Given the description of an element on the screen output the (x, y) to click on. 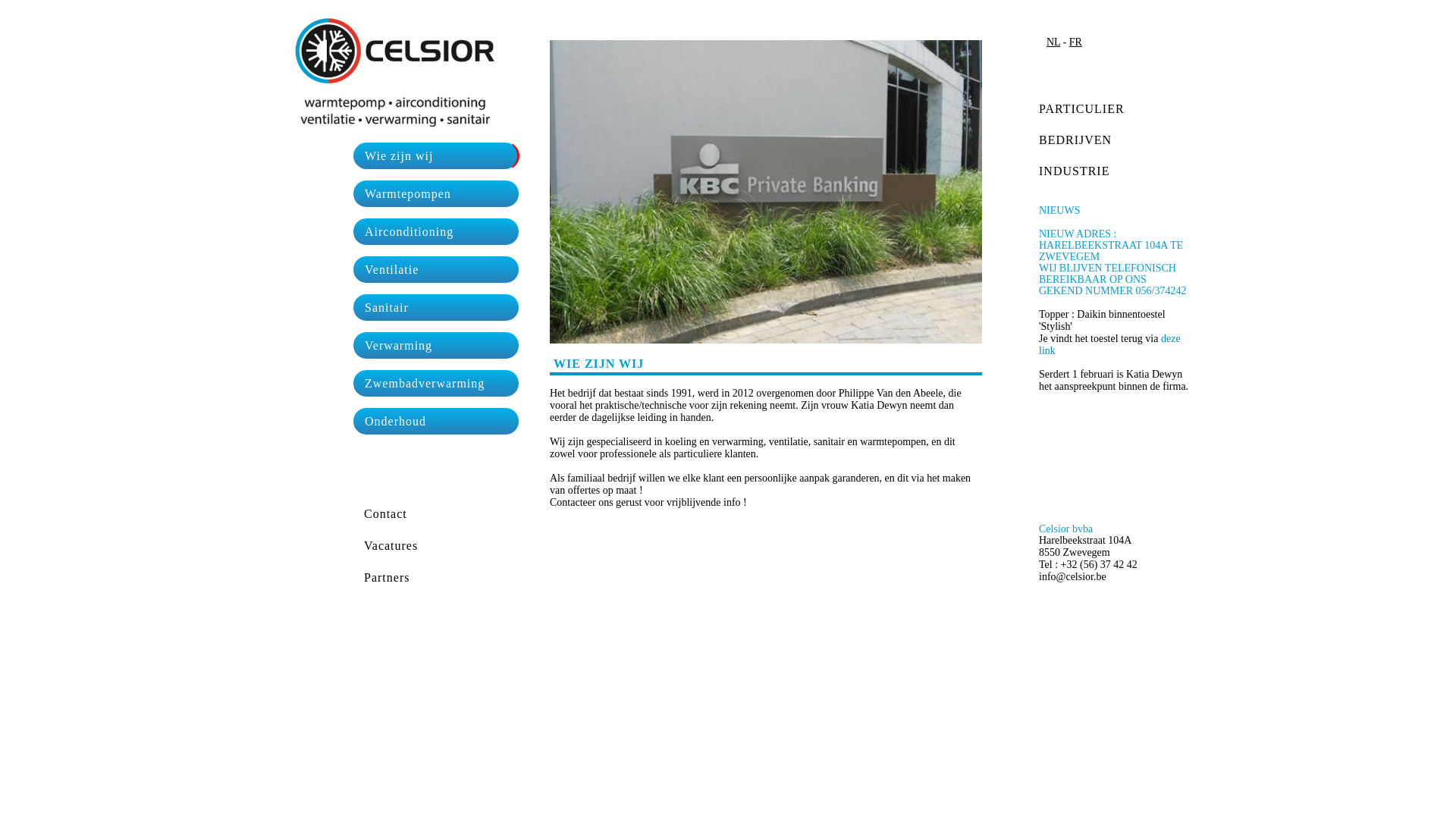
Onderhoud Element type: text (435, 421)
Verwarming Element type: text (435, 345)
Vacatures Element type: text (391, 545)
FR Element type: text (1075, 41)
Ventilatie Element type: text (435, 269)
Contact Element type: text (386, 513)
Partners Element type: text (387, 577)
Warmtepompen Element type: text (435, 193)
NL Element type: text (1053, 41)
Airconditioning Element type: text (435, 231)
Sanitair Element type: text (435, 307)
Wie zijn wij Element type: text (435, 155)
Zwembadverwarming Element type: text (435, 383)
deze link Element type: text (1109, 344)
